Given the description of an element on the screen output the (x, y) to click on. 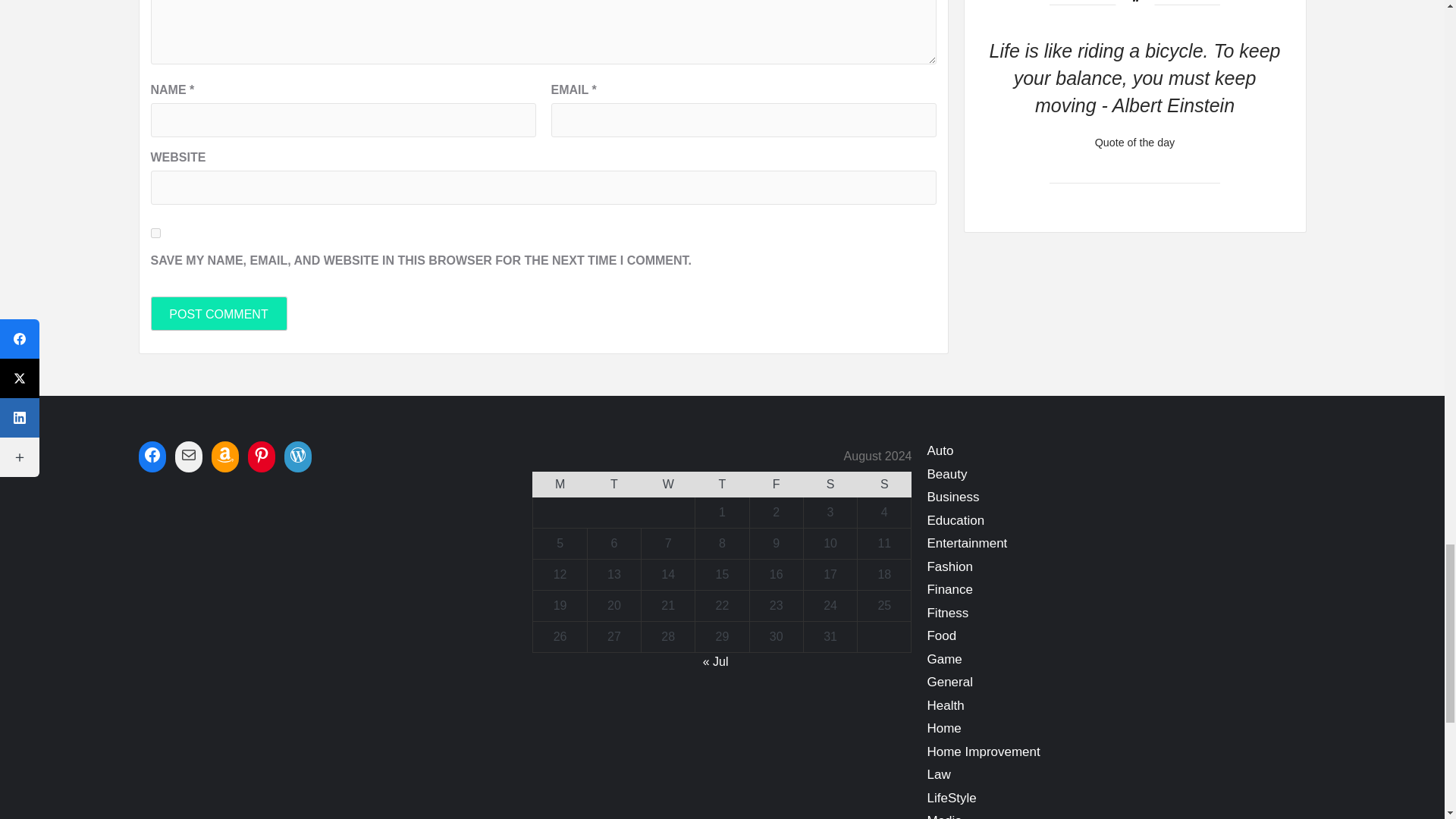
Wednesday (668, 484)
Tuesday (613, 484)
Sunday (884, 484)
Thursday (722, 484)
Saturday (830, 484)
Friday (776, 484)
Monday (559, 484)
Post Comment (217, 313)
Post Comment (217, 313)
